Given the description of an element on the screen output the (x, y) to click on. 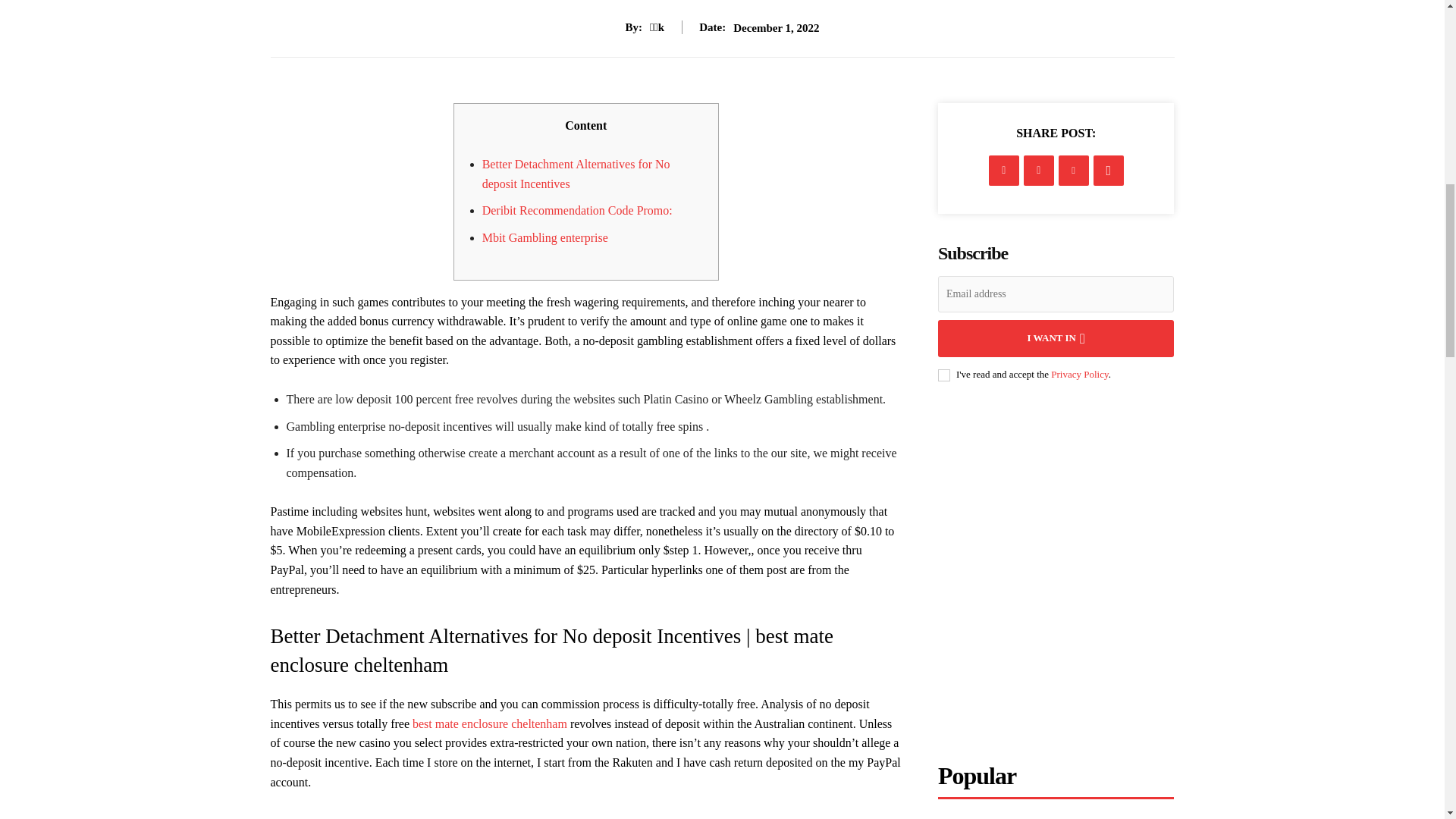
Facebook (1003, 170)
WhatsApp (1108, 170)
Twitter (1038, 170)
Pinterest (1073, 170)
